Given the description of an element on the screen output the (x, y) to click on. 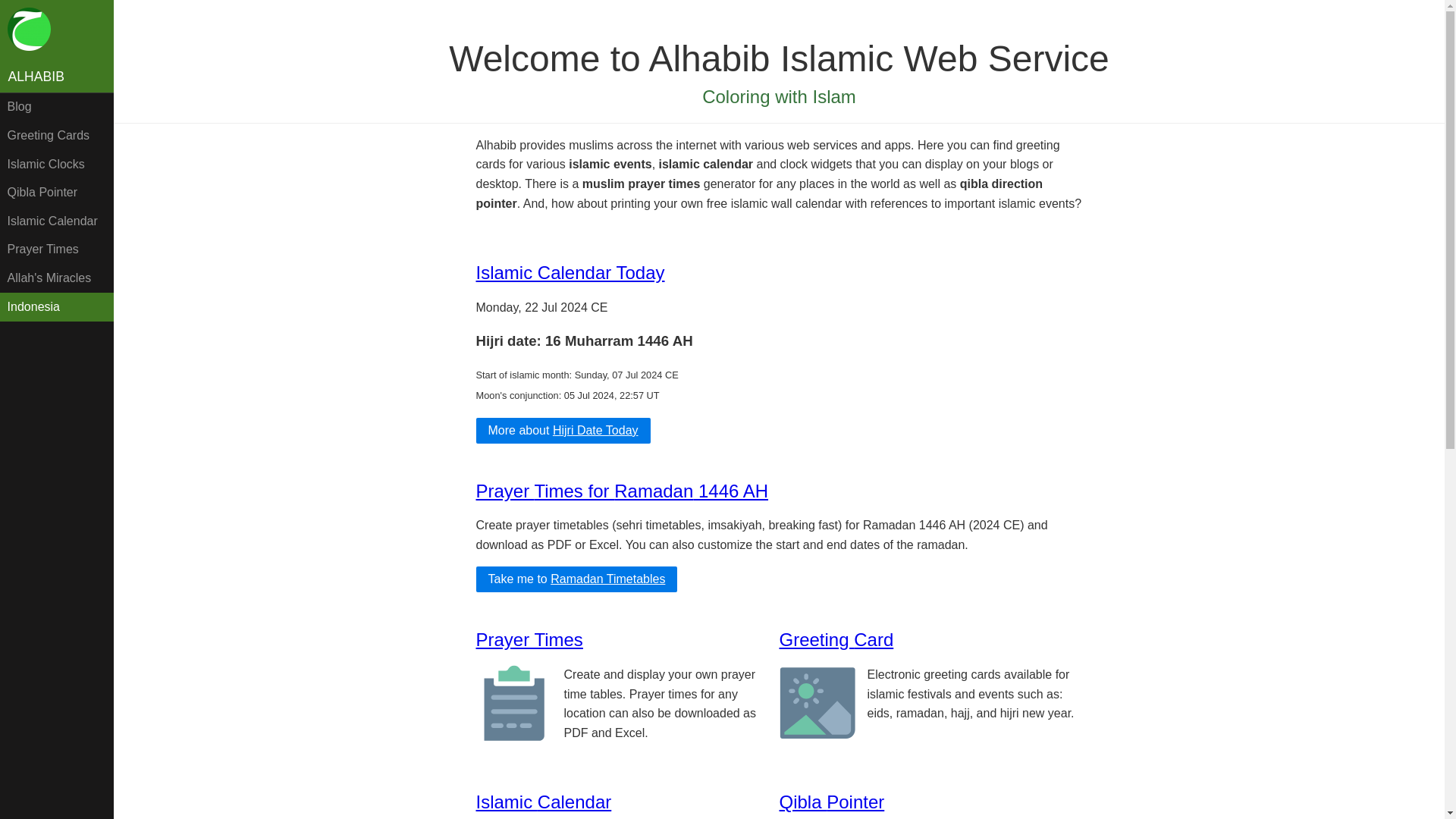
Ramadan 1446 AH Prayer Timetables (622, 490)
Ramadan Timetables (607, 578)
Islamic Clocks (56, 164)
Allah's Miracles (56, 277)
Greeting Cards (56, 135)
More about Hijri Date Today (563, 430)
ALHABIB (56, 76)
Situs Bahasa Indonesia (56, 306)
Take me to Ramadan Timetables (577, 579)
Qibla Pointer (831, 801)
Blog (56, 107)
Qibla Pointer (56, 193)
Prayer Times for Ramadan 1446 AH (622, 490)
Hijri Date Today (596, 430)
Prayer Times (529, 639)
